Given the description of an element on the screen output the (x, y) to click on. 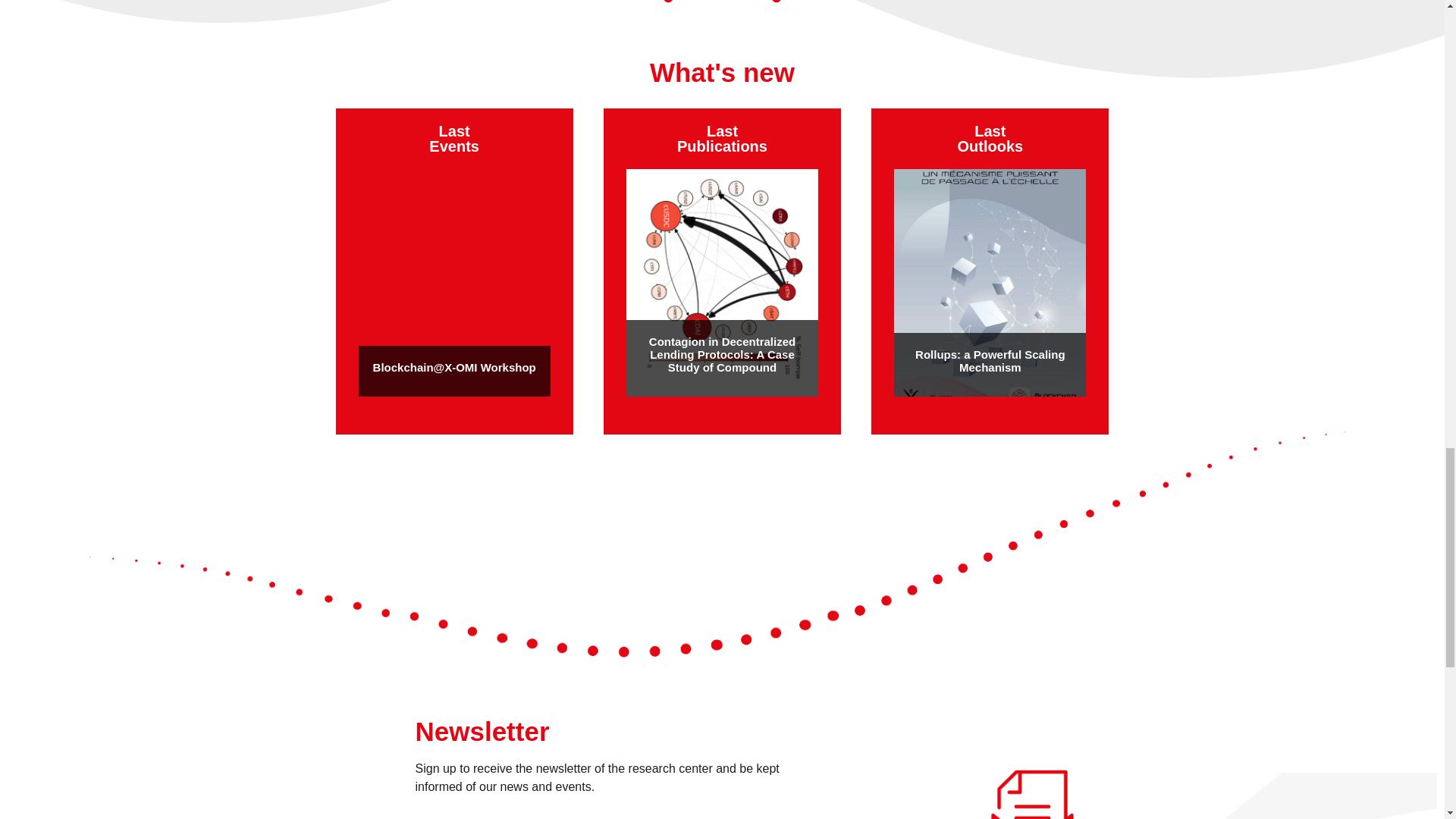
Rollups: a Powerful Scaling Mechanism (990, 360)
